Given the description of an element on the screen output the (x, y) to click on. 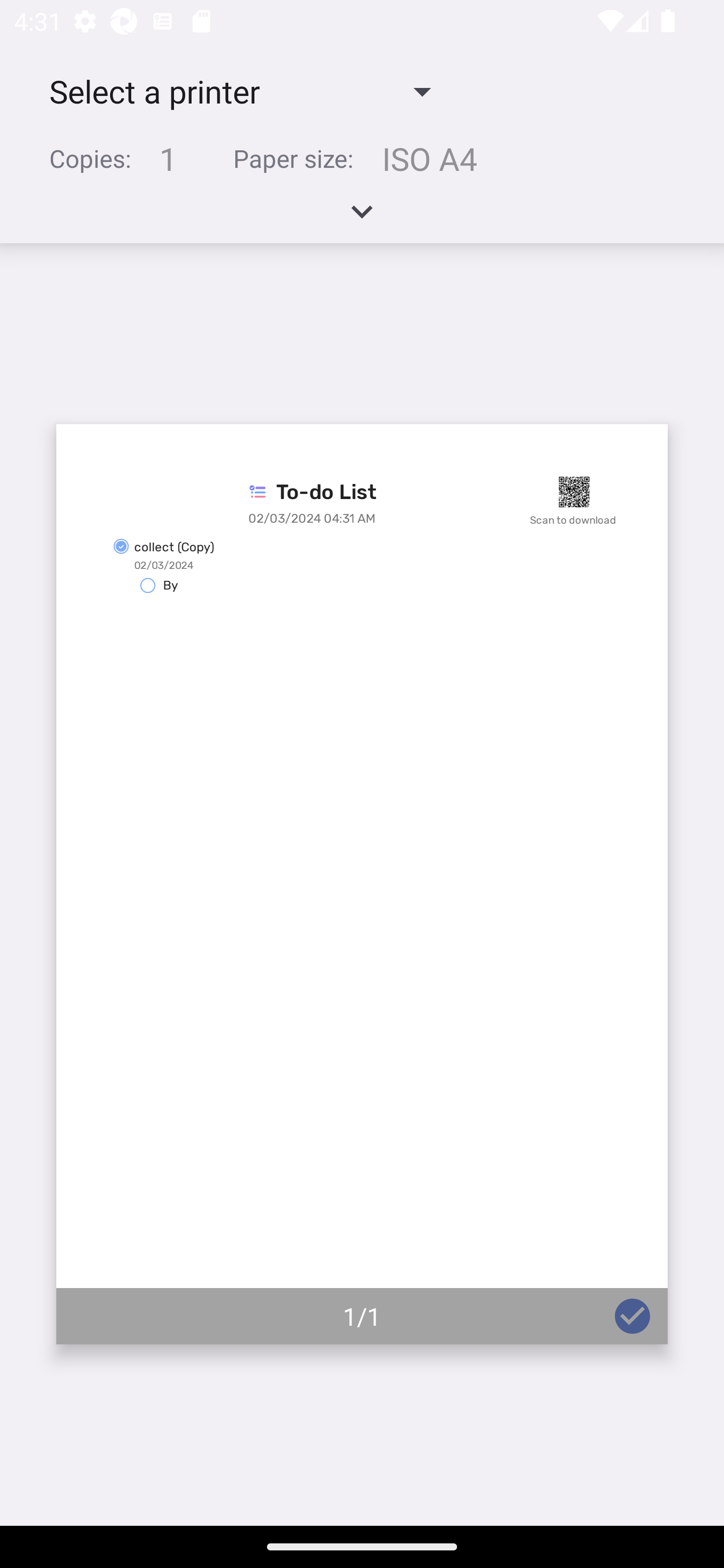
Select a printer (238, 90)
Expand handle (362, 218)
Page 1 of 1 1/1 (361, 883)
